Given the description of an element on the screen output the (x, y) to click on. 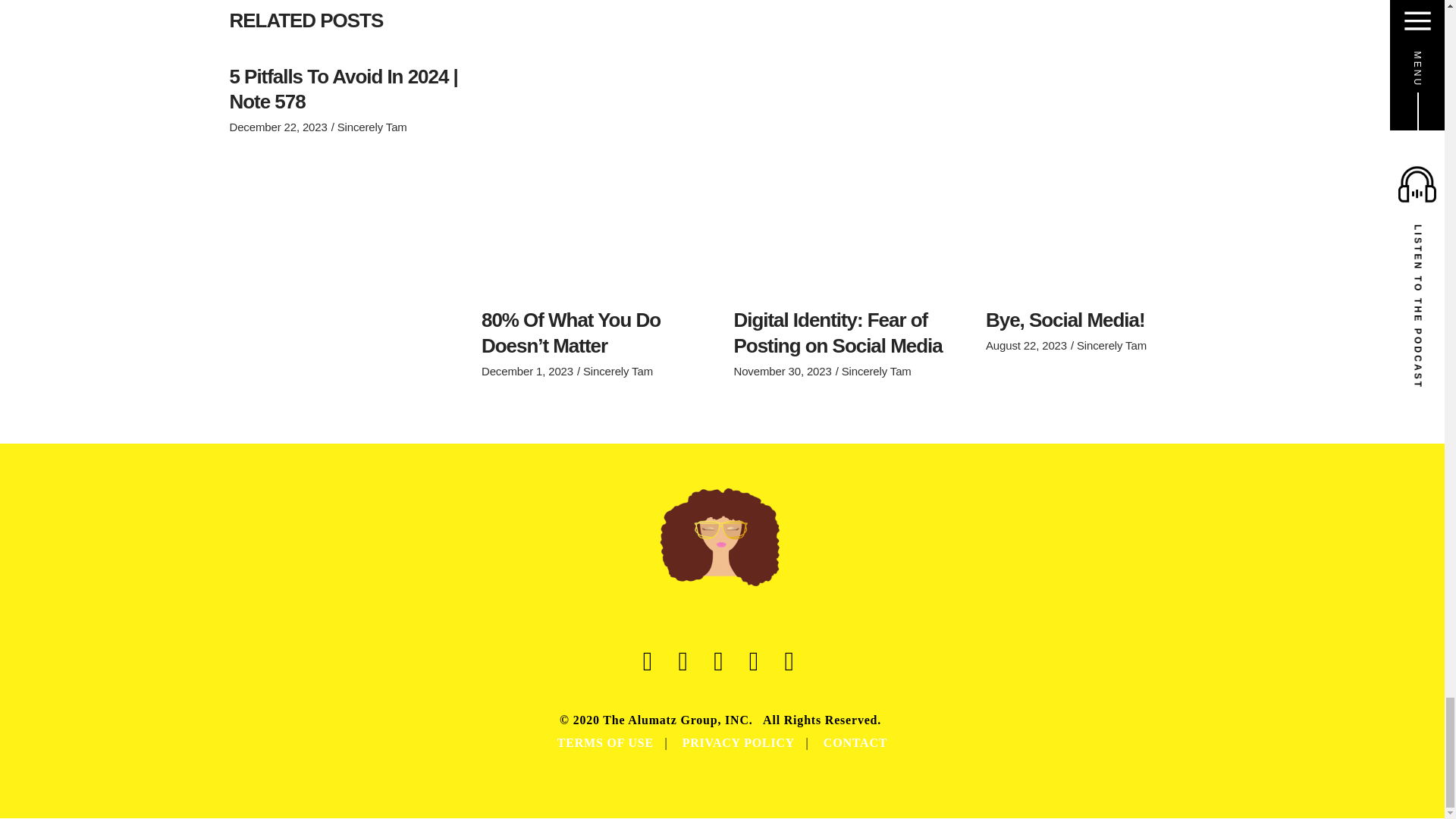
Digital Identity: Fear of Posting on Social Media (837, 332)
Bye, Social Media! (1100, 179)
Digital Identity: Fear of Posting on Social Media (848, 179)
Bye, Social Media! (1064, 319)
